Given the description of an element on the screen output the (x, y) to click on. 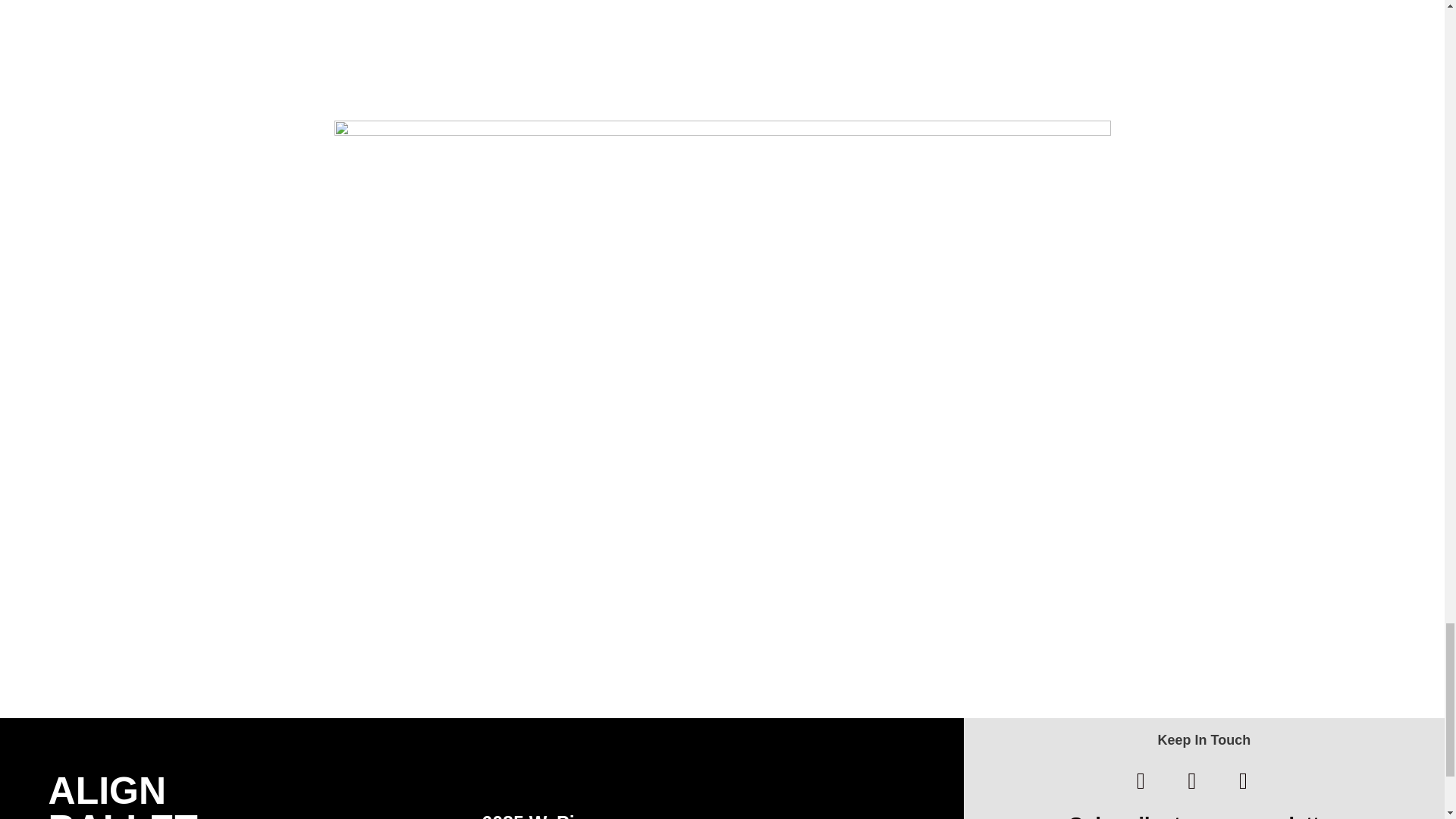
222 W Las Tunas Dr, San Gabriel, CA 91776 (438, 48)
